Given the description of an element on the screen output the (x, y) to click on. 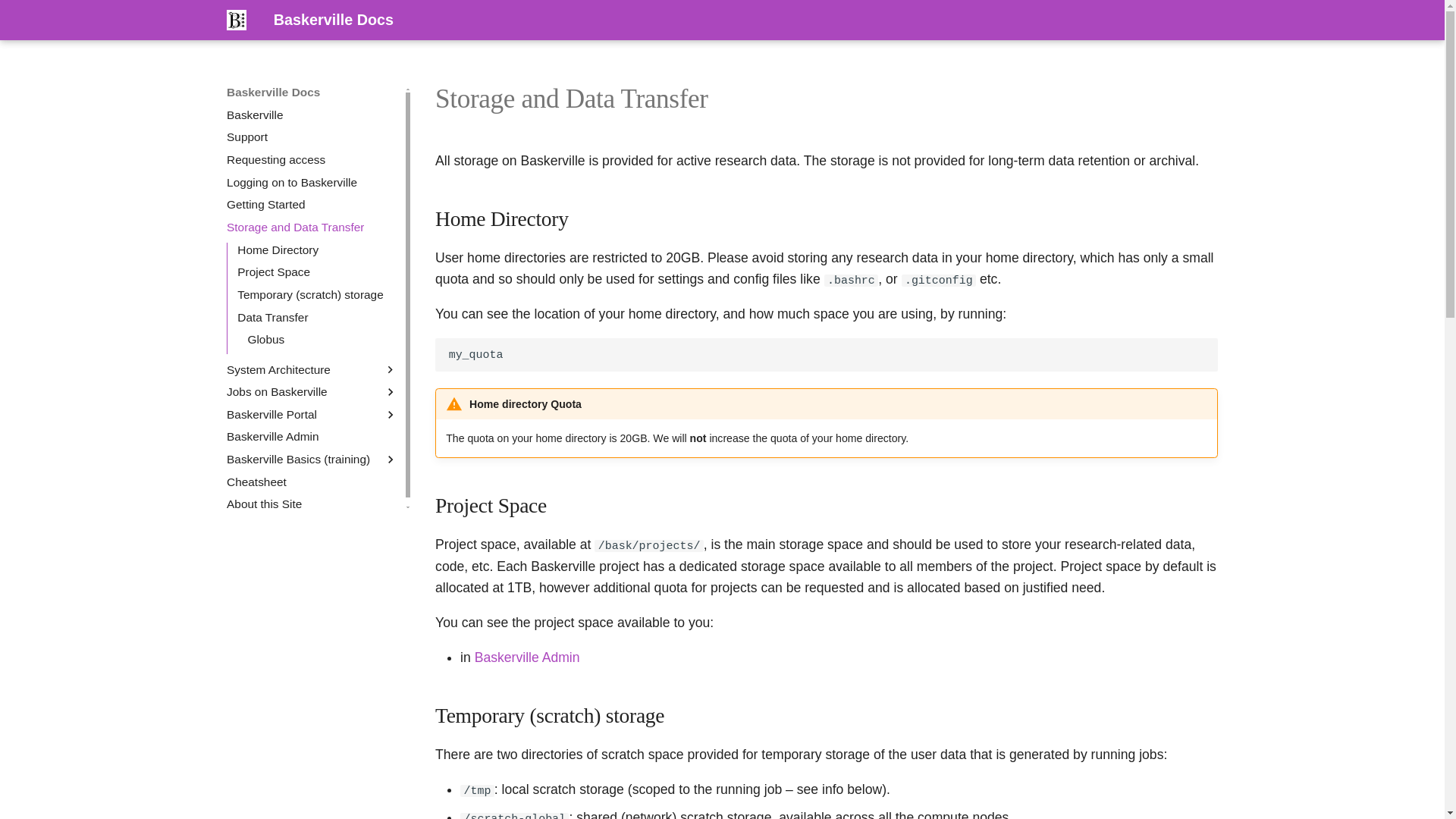
Logging on to Baskerville (312, 182)
About this Site (312, 503)
Data Transfer (317, 317)
Requesting access (312, 159)
Cheatsheet (312, 482)
Project Space (317, 272)
Baskerville Admin (526, 657)
Support (312, 136)
Baskerville (312, 114)
Getting Started (312, 204)
